Given the description of an element on the screen output the (x, y) to click on. 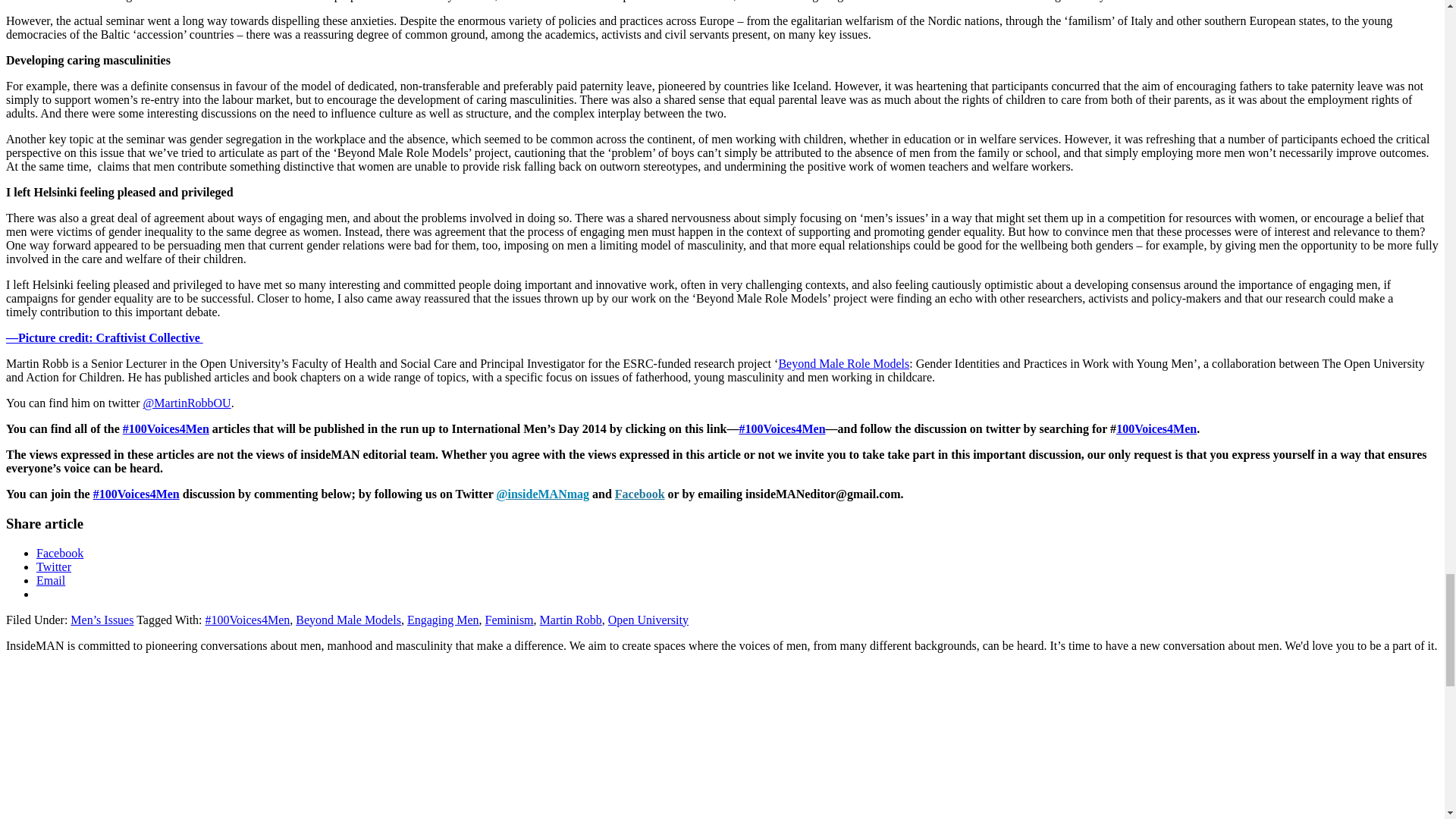
Click to email this to a friend (50, 579)
Click to share on Facebook (59, 552)
Click to share on Twitter (53, 565)
